Given the description of an element on the screen output the (x, y) to click on. 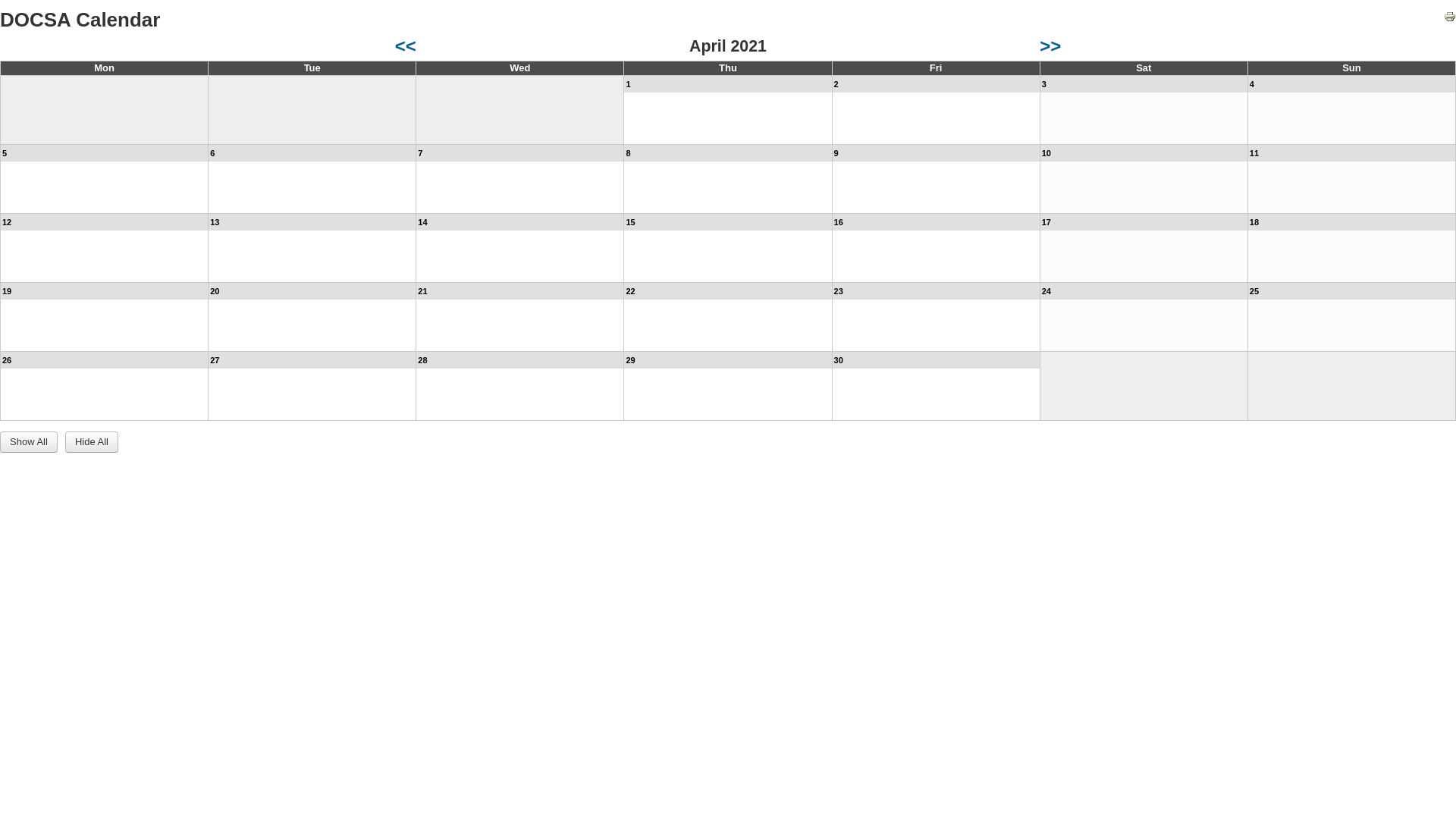
>> Element type: text (1049, 45)
<< Element type: text (405, 45)
Show All Element type: text (28, 441)
Hide All Element type: text (91, 441)
